Given the description of an element on the screen output the (x, y) to click on. 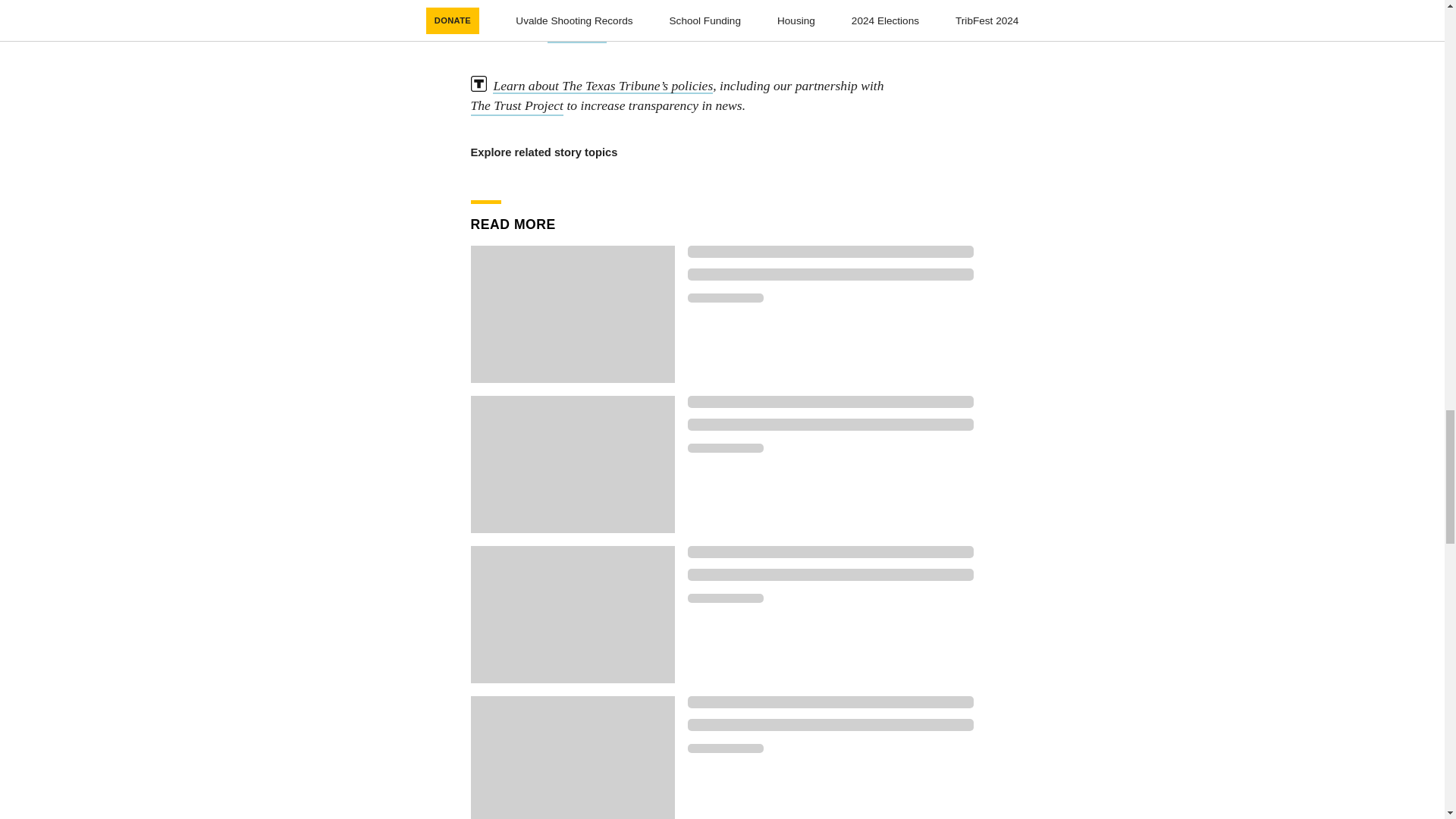
Loading indicator (830, 725)
Loading indicator (830, 424)
Loading indicator (724, 747)
Loading indicator (830, 702)
Loading indicator (724, 297)
Loading indicator (830, 551)
Loading indicator (830, 251)
Loading indicator (724, 597)
Loading indicator (724, 447)
Loading indicator (830, 574)
